Given the description of an element on the screen output the (x, y) to click on. 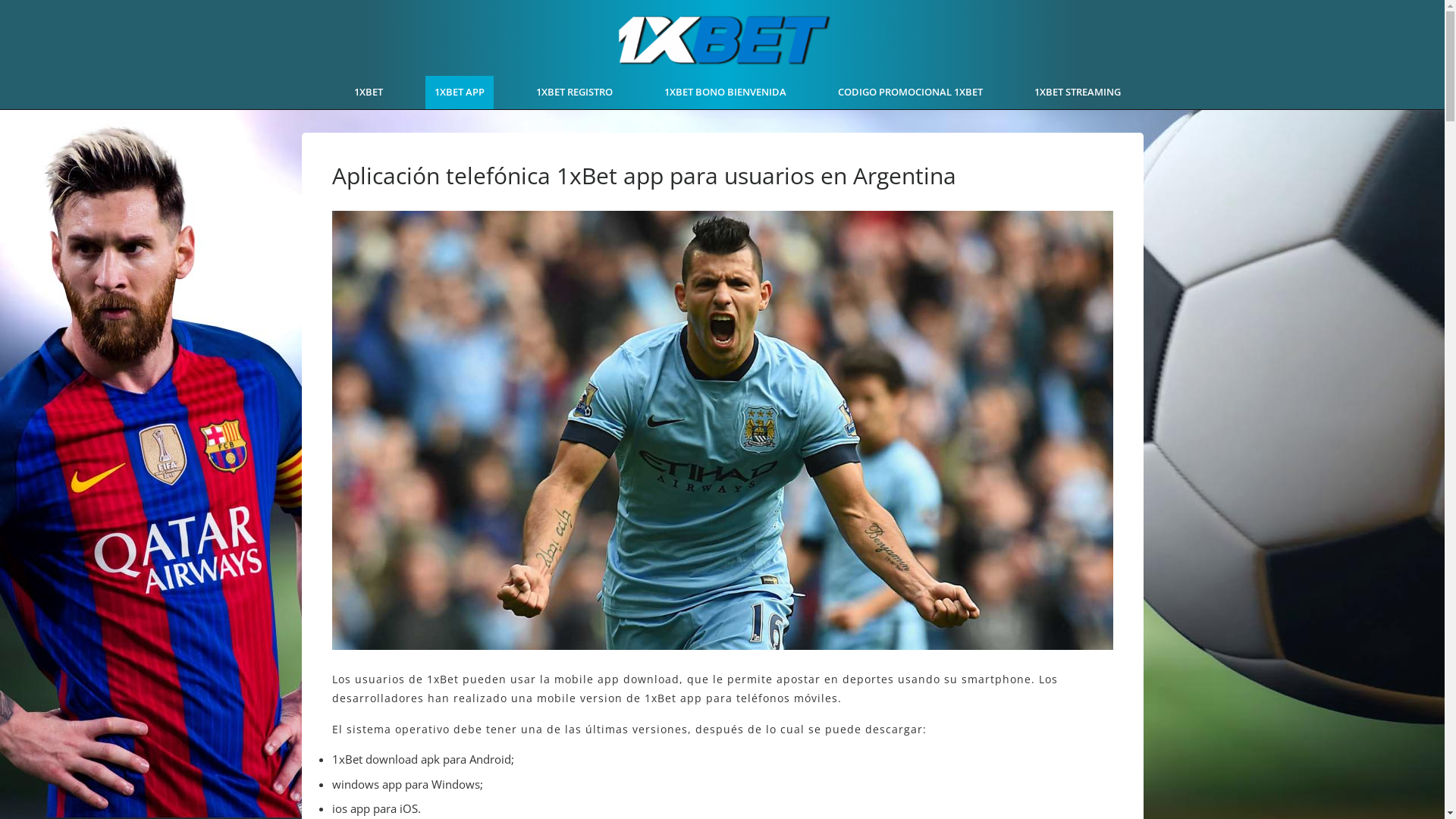
1XBET STREAMING Element type: text (1077, 92)
1XBET BONO BIENVENIDA Element type: text (725, 92)
1XBET Element type: text (368, 92)
1XBET REGISTRO Element type: text (574, 92)
CODIGO PROMOCIONAL 1XBET Element type: text (909, 92)
1XBET APP Element type: text (459, 92)
